Given the description of an element on the screen output the (x, y) to click on. 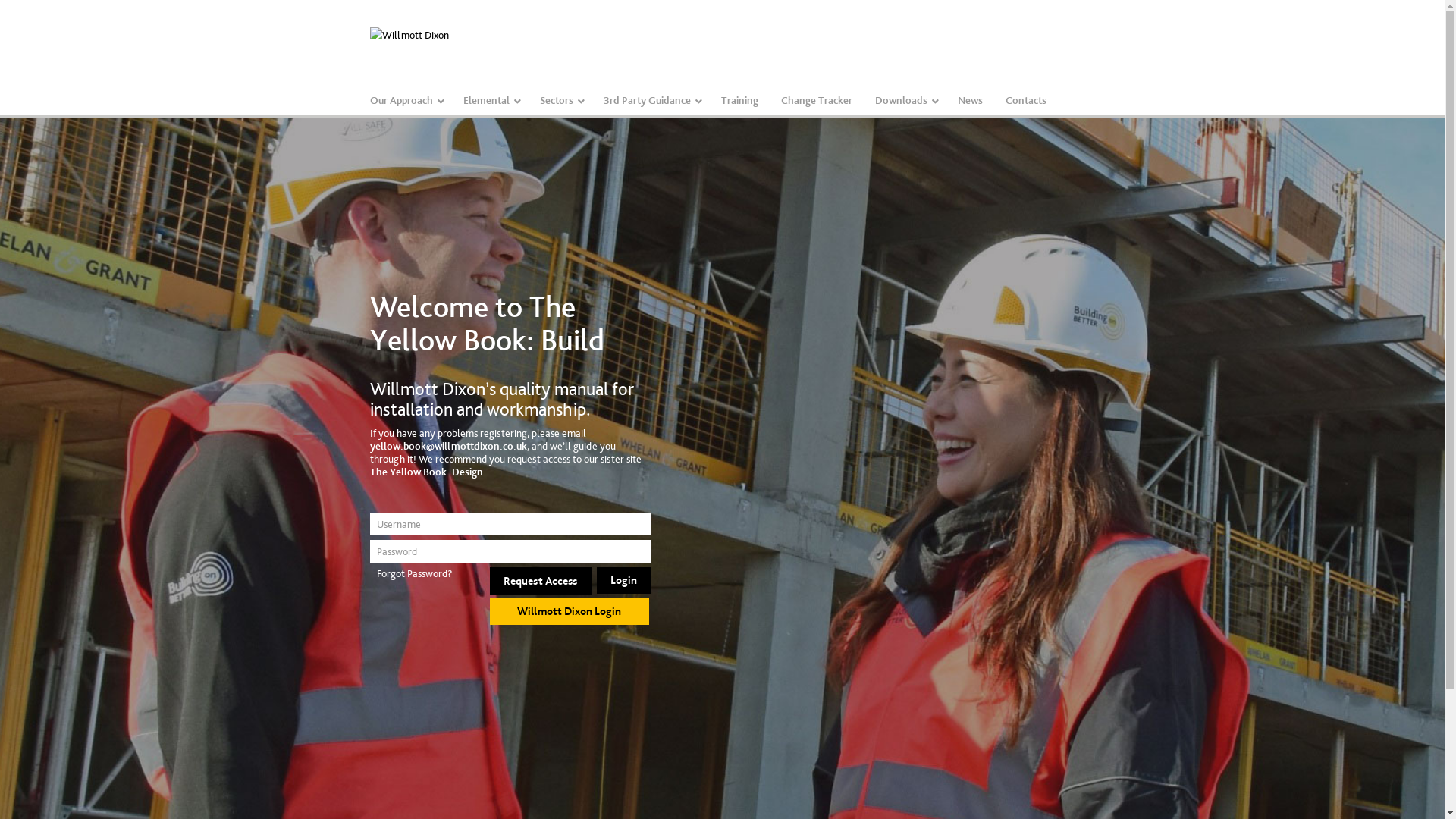
Willmott Dixon Login Element type: text (569, 611)
Downloads Element type: text (903, 100)
Willmott Dixon Element type: hover (409, 42)
The Yellow Book: Design Element type: text (426, 471)
Change Tracker Element type: text (815, 100)
Training Element type: text (739, 100)
yellow.book@willmottdixon.co.uk Element type: text (448, 445)
Contacts Element type: text (1025, 100)
Login Element type: text (622, 580)
News Element type: text (970, 100)
